Given the description of an element on the screen output the (x, y) to click on. 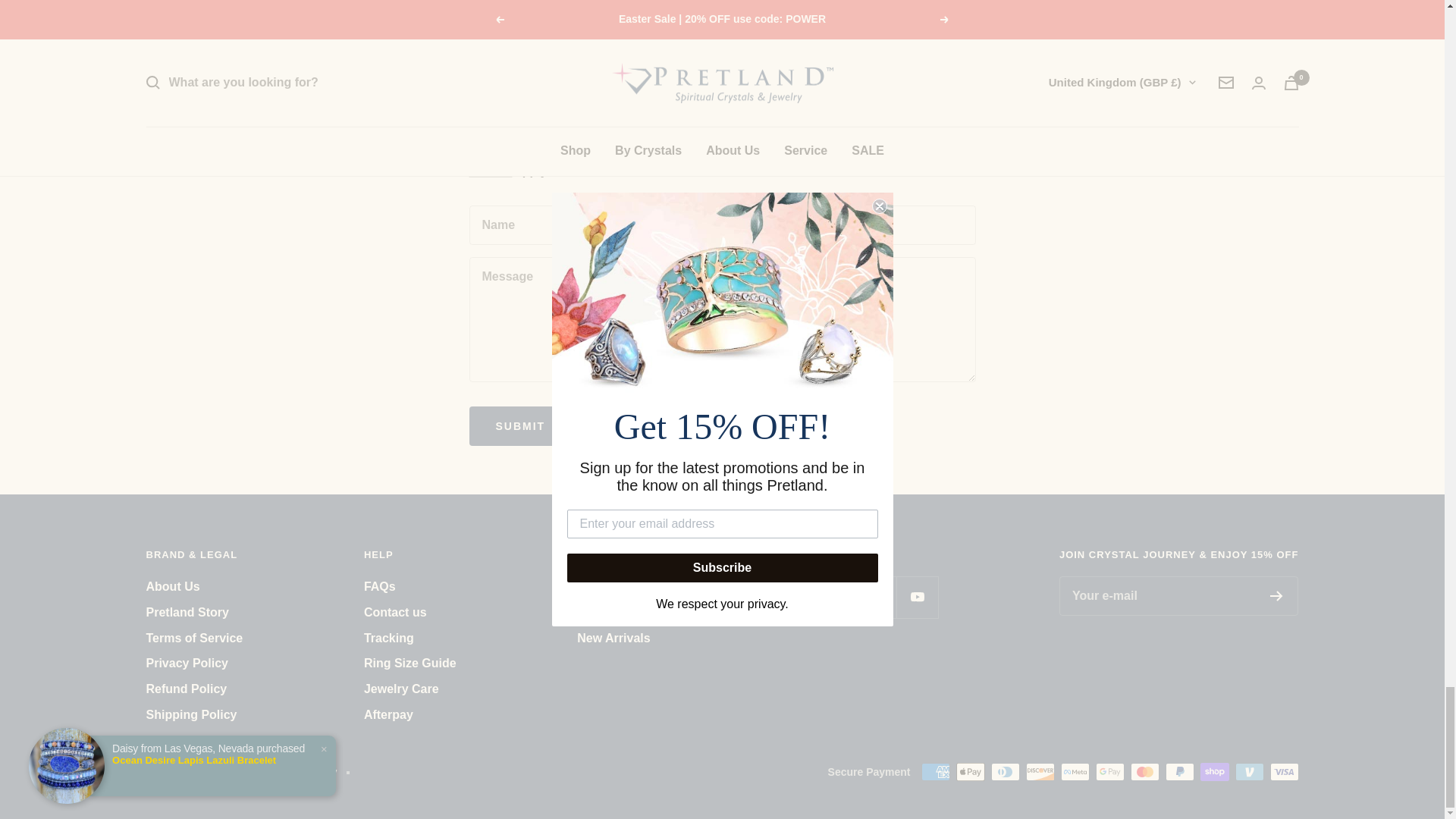
Register (1275, 595)
